Given the description of an element on the screen output the (x, y) to click on. 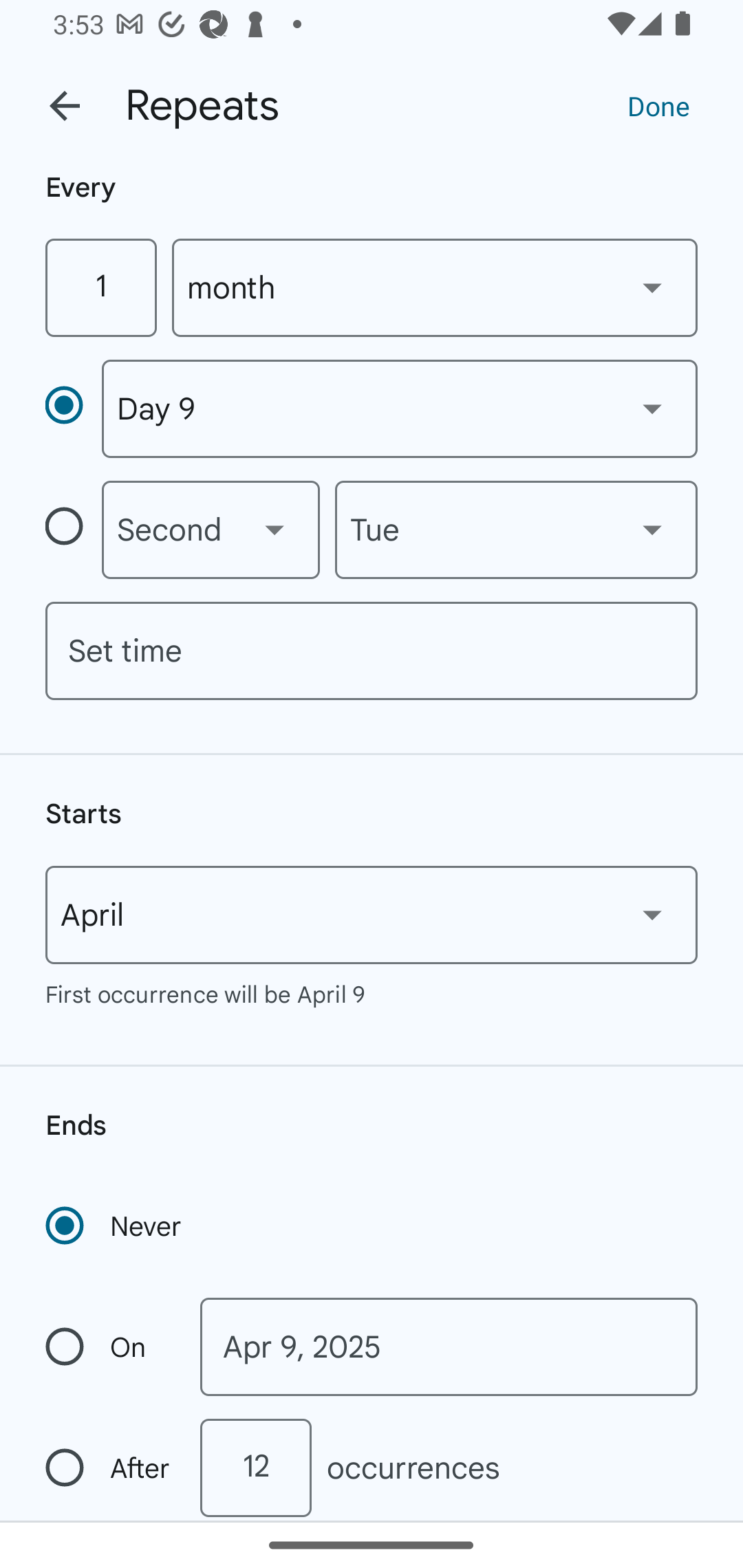
Back (64, 105)
Done (658, 105)
1 (100, 287)
month (434, 287)
Show dropdown menu (652, 286)
Day 9 (399, 408)
Show dropdown menu (652, 408)
Repeat monthly on a specific day of the month (73, 408)
Second (210, 529)
Tue (516, 529)
Show dropdown menu (274, 529)
Show dropdown menu (652, 529)
Repeat monthly on a specific weekday (73, 529)
Set time (371, 650)
April (371, 914)
Show dropdown menu (652, 913)
Never Recurrence never ends (115, 1225)
Apr 9, 2025 (448, 1346)
On Recurrence ends on a specific date (109, 1346)
12 (255, 1468)
